Given the description of an element on the screen output the (x, y) to click on. 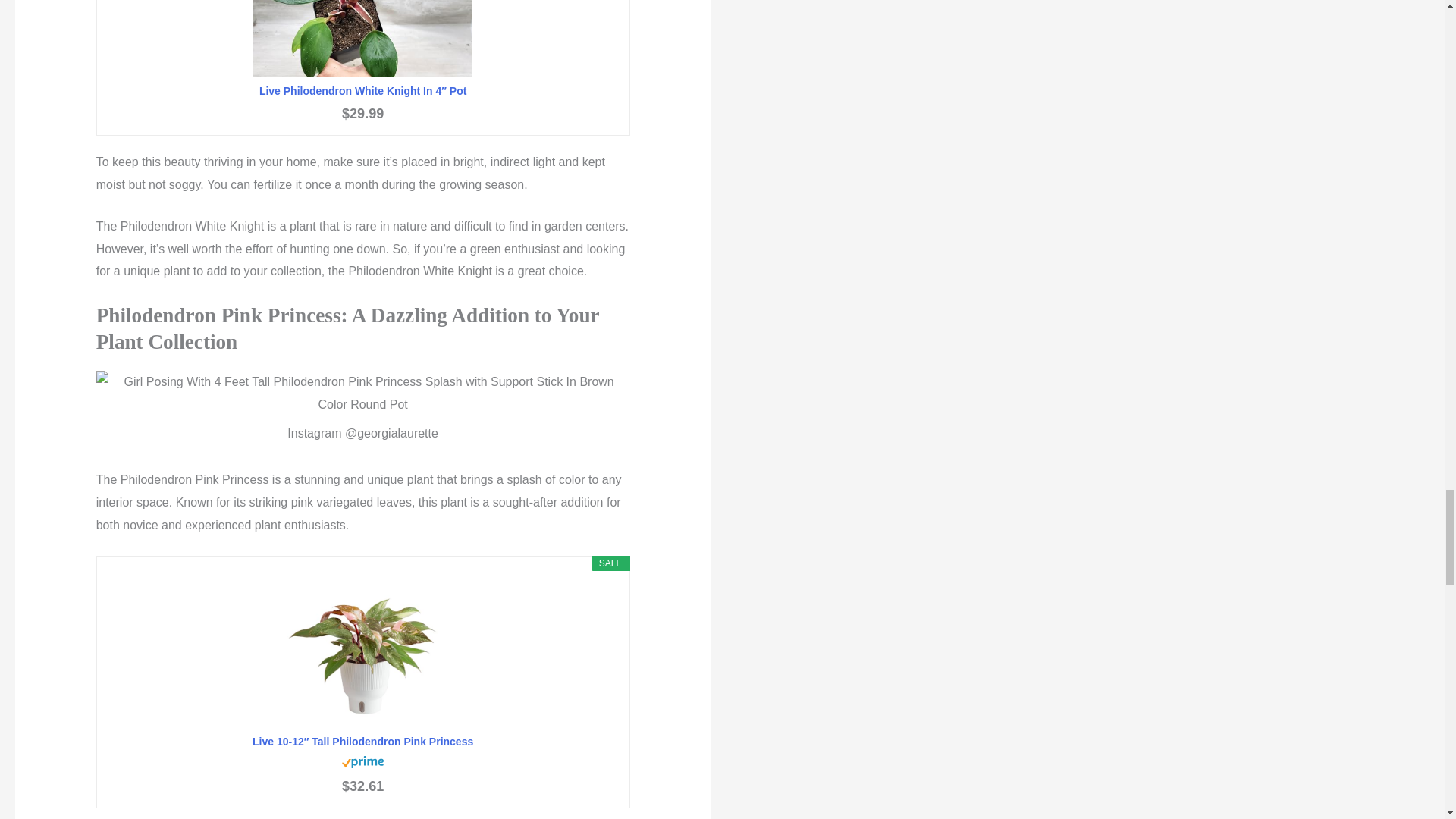
Live 10-12' Tall Philodendron Pink Princess (362, 741)
Live 10-12' Tall Philodendron Pink Princess (362, 651)
Live Philodendron White Knight In 4' Pot (362, 38)
Live Philodendron White Knight In 4' Pot (362, 90)
